Given the description of an element on the screen output the (x, y) to click on. 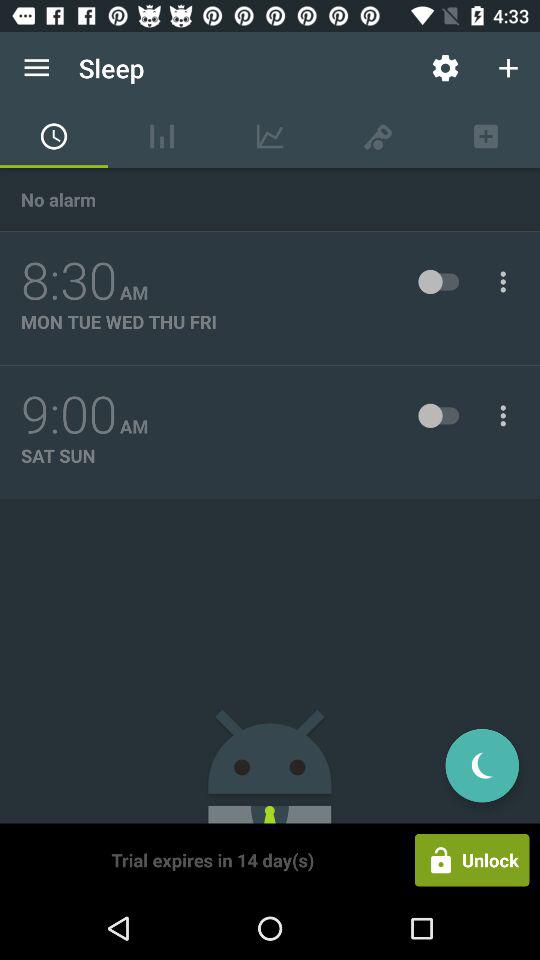
turn off the item next to the am item (69, 281)
